Given the description of an element on the screen output the (x, y) to click on. 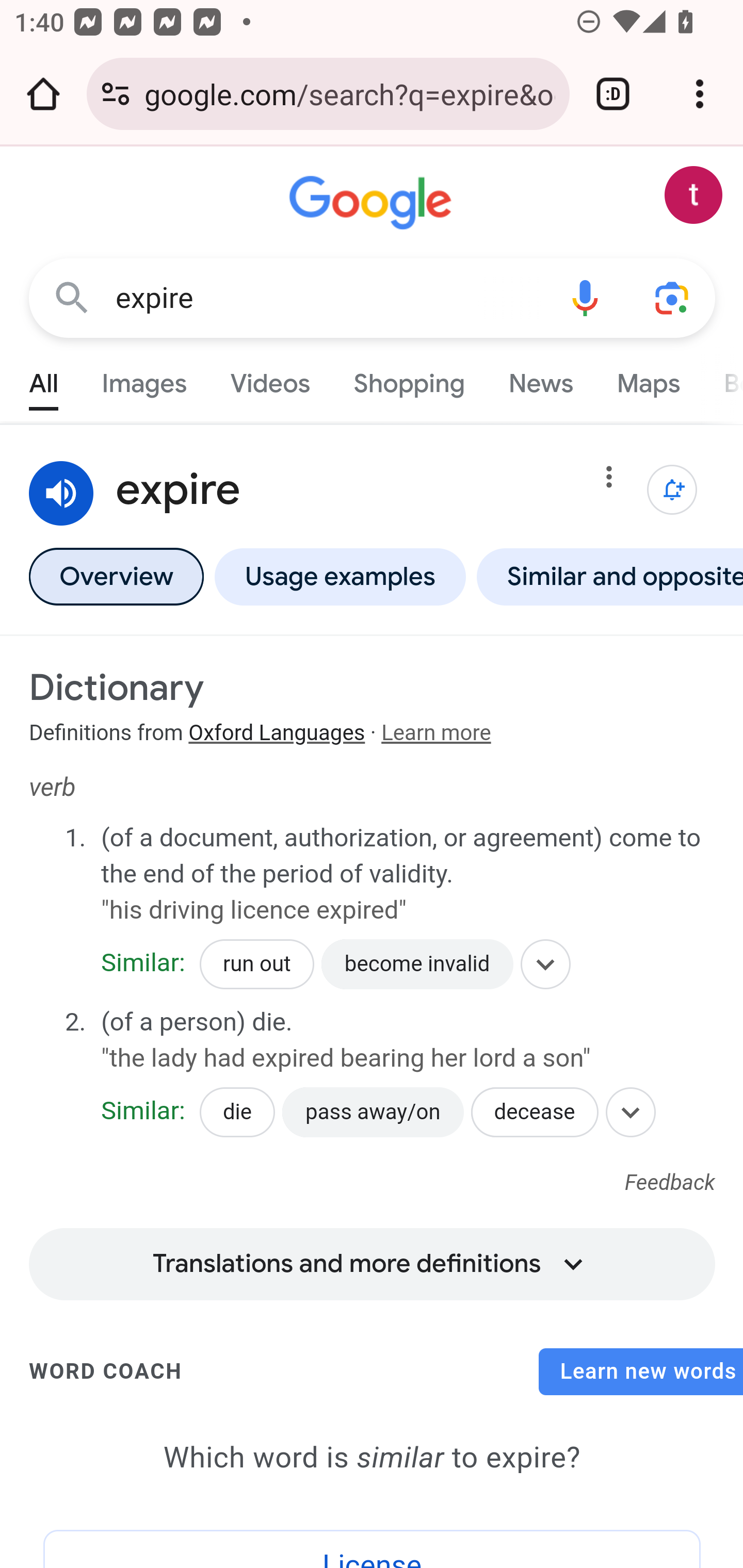
Open the home page (43, 93)
Connection is secure (115, 93)
Switch or close tabs (612, 93)
Customize and control Google Chrome (699, 93)
Google (372, 203)
Google Search (71, 296)
Search using your camera or photos (672, 296)
expire (328, 297)
Images (144, 378)
Videos (270, 378)
Shopping (408, 378)
News (540, 378)
Maps (647, 378)
Get notifications about Word of the day (672, 489)
More options (609, 481)
 Listen  (61, 493)
Overview (116, 575)
Usage examples (340, 575)
Similar and opposite words (606, 575)
Oxford Languages (276, 733)
Learn more (435, 733)
run out (256, 964)
cease (153, 1103)
die (237, 1112)
decease (534, 1112)
Feedback (669, 1182)
